Given the description of an element on the screen output the (x, y) to click on. 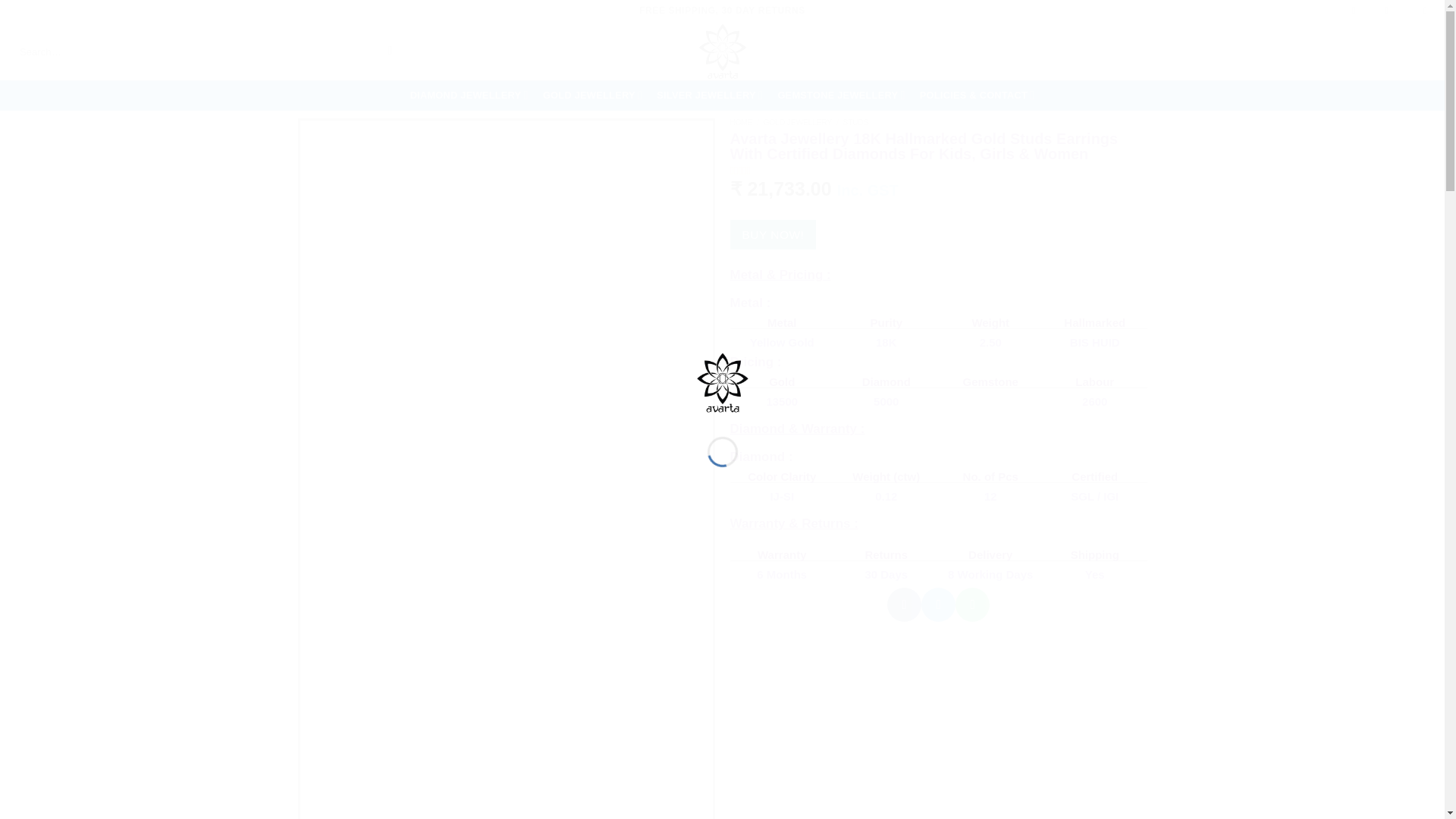
SILVER JEWELLERY (709, 95)
DIAMOND JEWELLERY (469, 95)
GOLD JEWELLERY (592, 95)
Search (390, 51)
GEMSTONE JEWELLERY (841, 95)
Avarta Jewellery - Jewellery As Unique As You (722, 51)
Avarta Jewellery - Jewellery As Unique As You (722, 381)
